Given the description of an element on the screen output the (x, y) to click on. 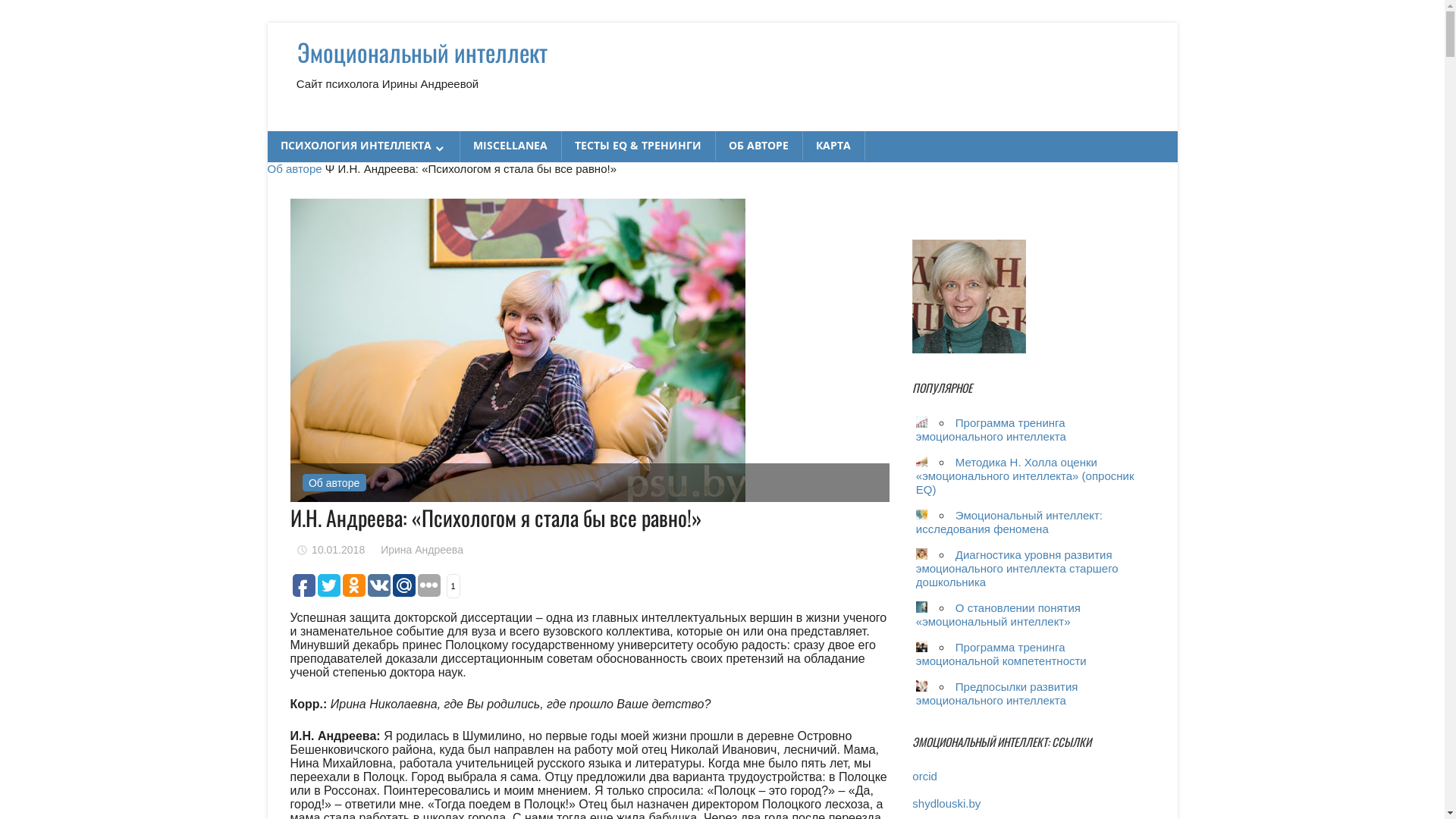
shydlouski.by Element type: text (946, 803)
Skip to content Element type: text (266, 21)
MISCELLANEA Element type: text (510, 145)
orcid Element type: text (924, 775)
